Given the description of an element on the screen output the (x, y) to click on. 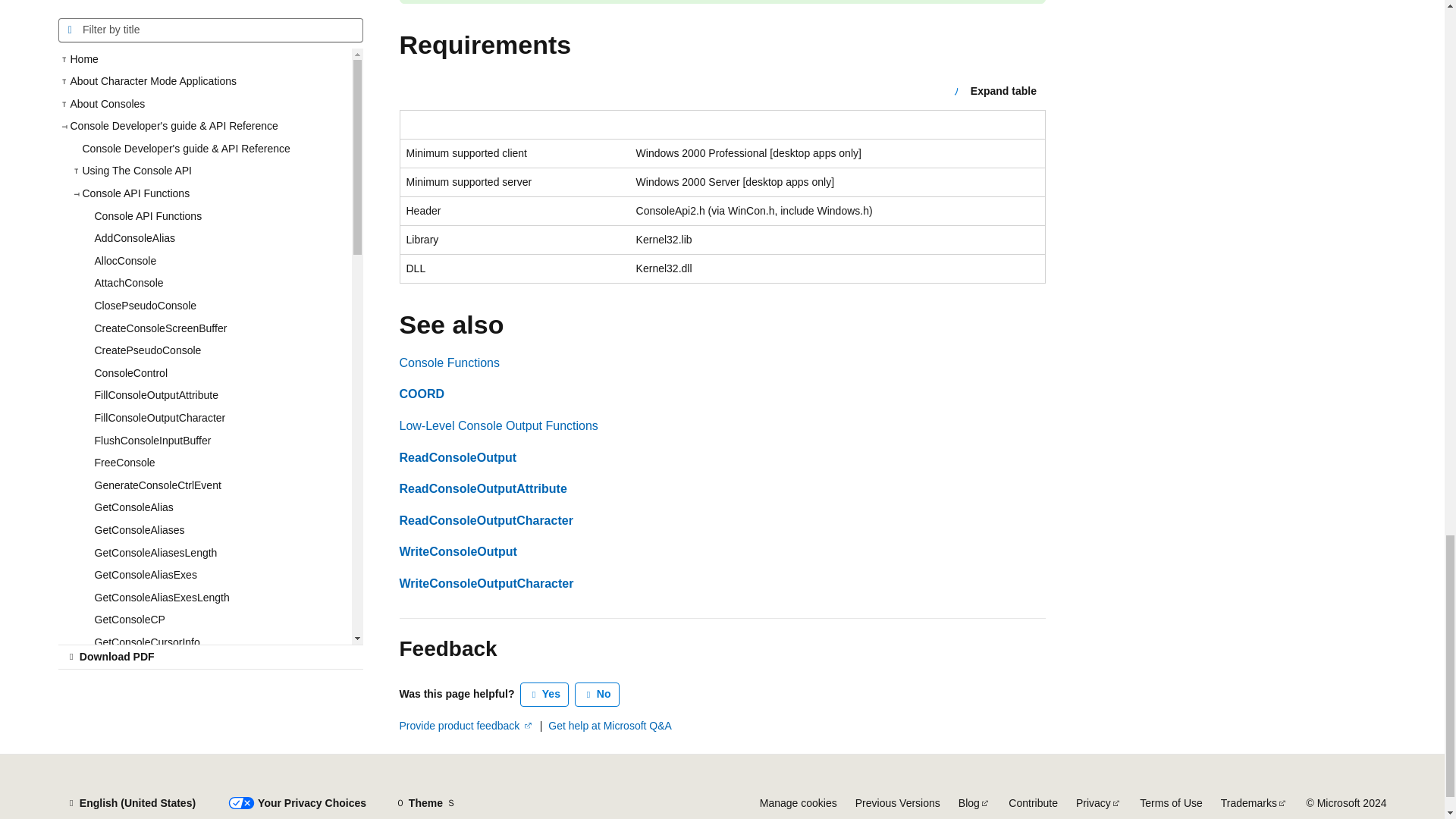
Theme (425, 802)
This article is helpful (544, 694)
This article is not helpful (597, 694)
